Given the description of an element on the screen output the (x, y) to click on. 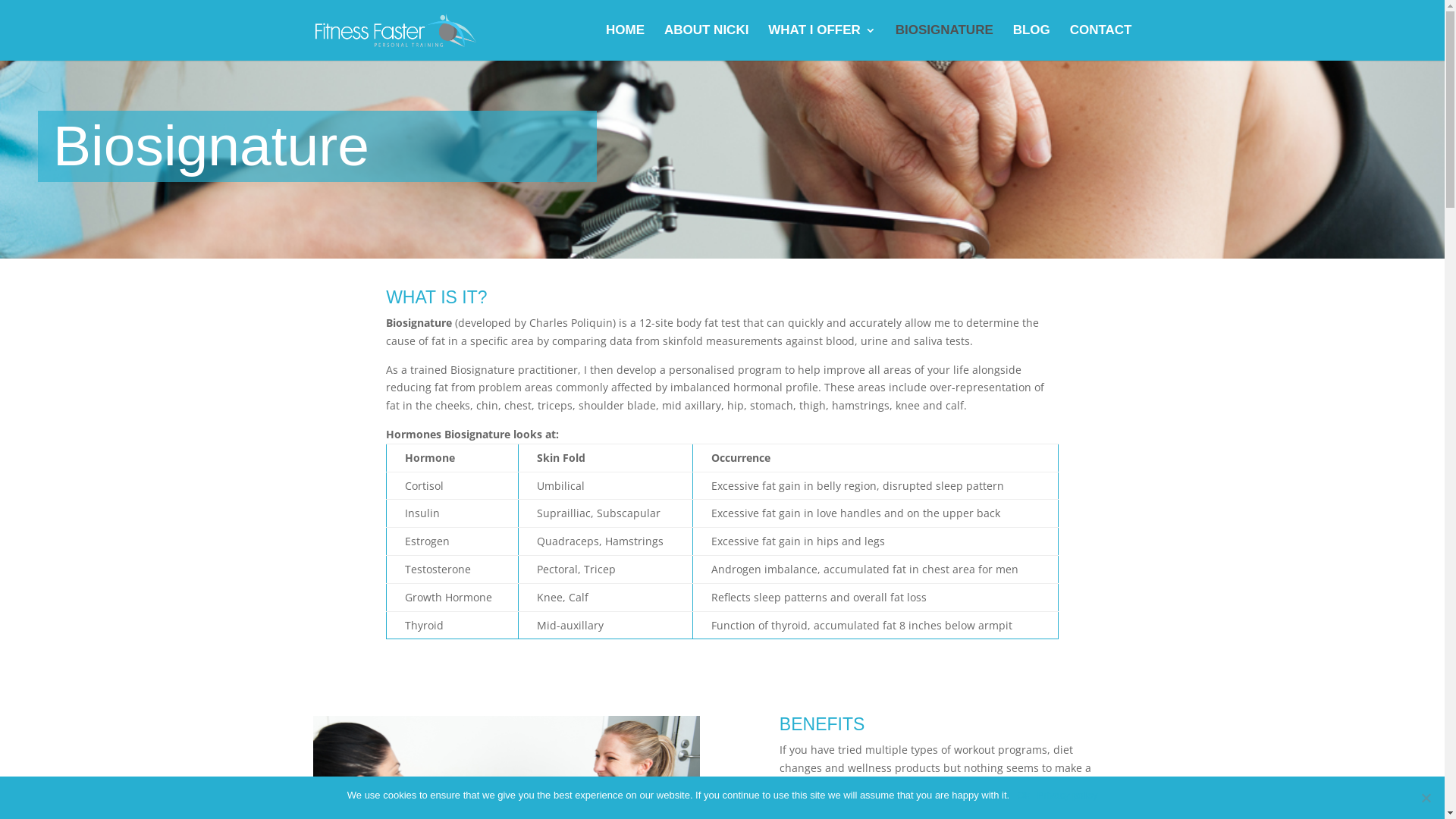
BIOSIGNATURE Element type: text (944, 42)
Privacy policy Element type: text (1067, 795)
CONTACT Element type: text (1101, 42)
BLOG Element type: text (1031, 42)
WHAT I OFFER Element type: text (821, 42)
HOME Element type: text (624, 42)
No Element type: hover (1425, 797)
ABOUT NICKI Element type: text (706, 42)
Ok Element type: text (1022, 795)
